Given the description of an element on the screen output the (x, y) to click on. 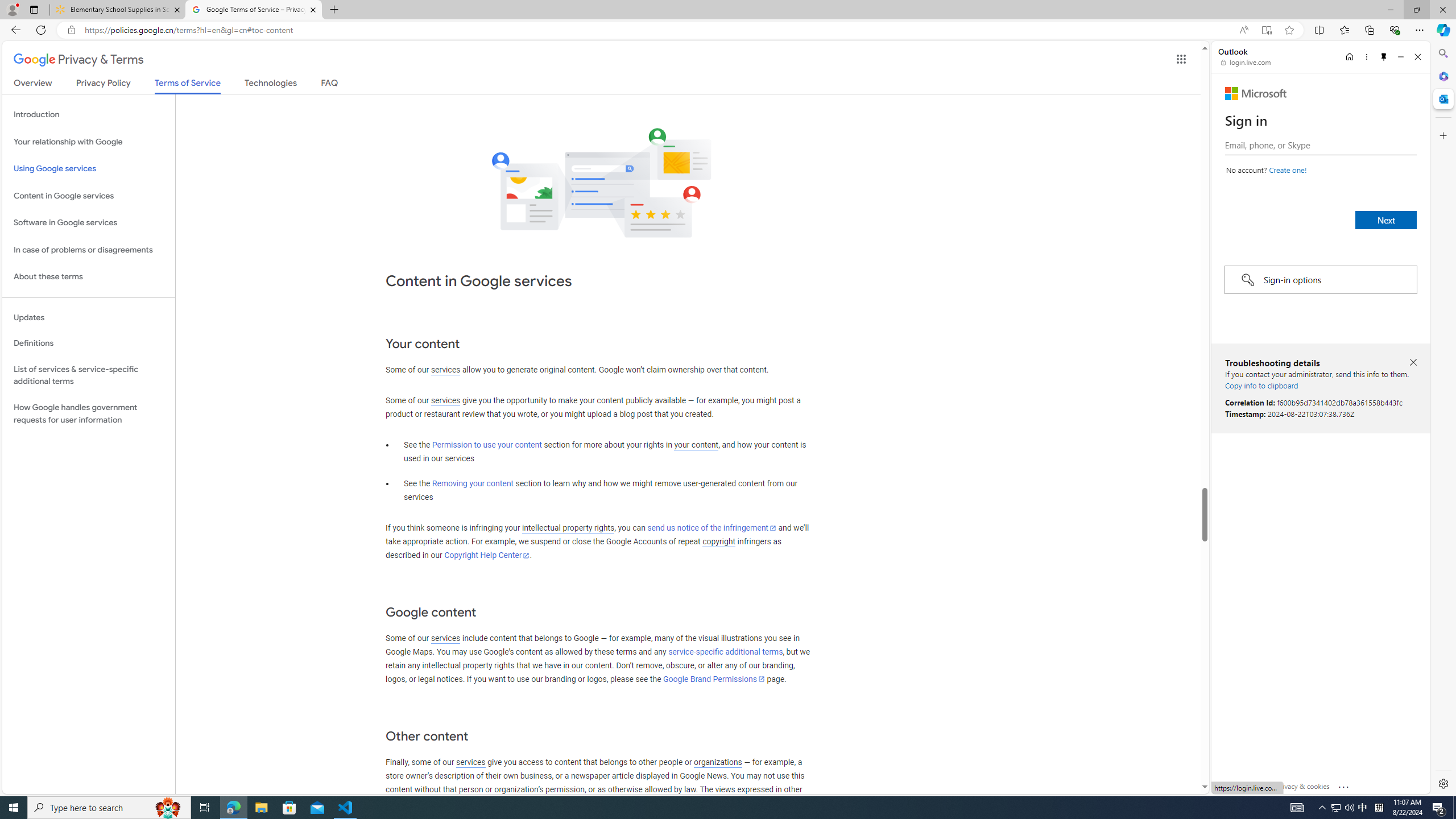
login.live.com (1246, 61)
Close troubleshooting details (1412, 362)
Unpin side pane (1383, 56)
Side bar (1443, 418)
Create a Microsoft account (1287, 169)
Close Search pane (1442, 53)
Next (1385, 220)
Microsoft (1255, 93)
